Given the description of an element on the screen output the (x, y) to click on. 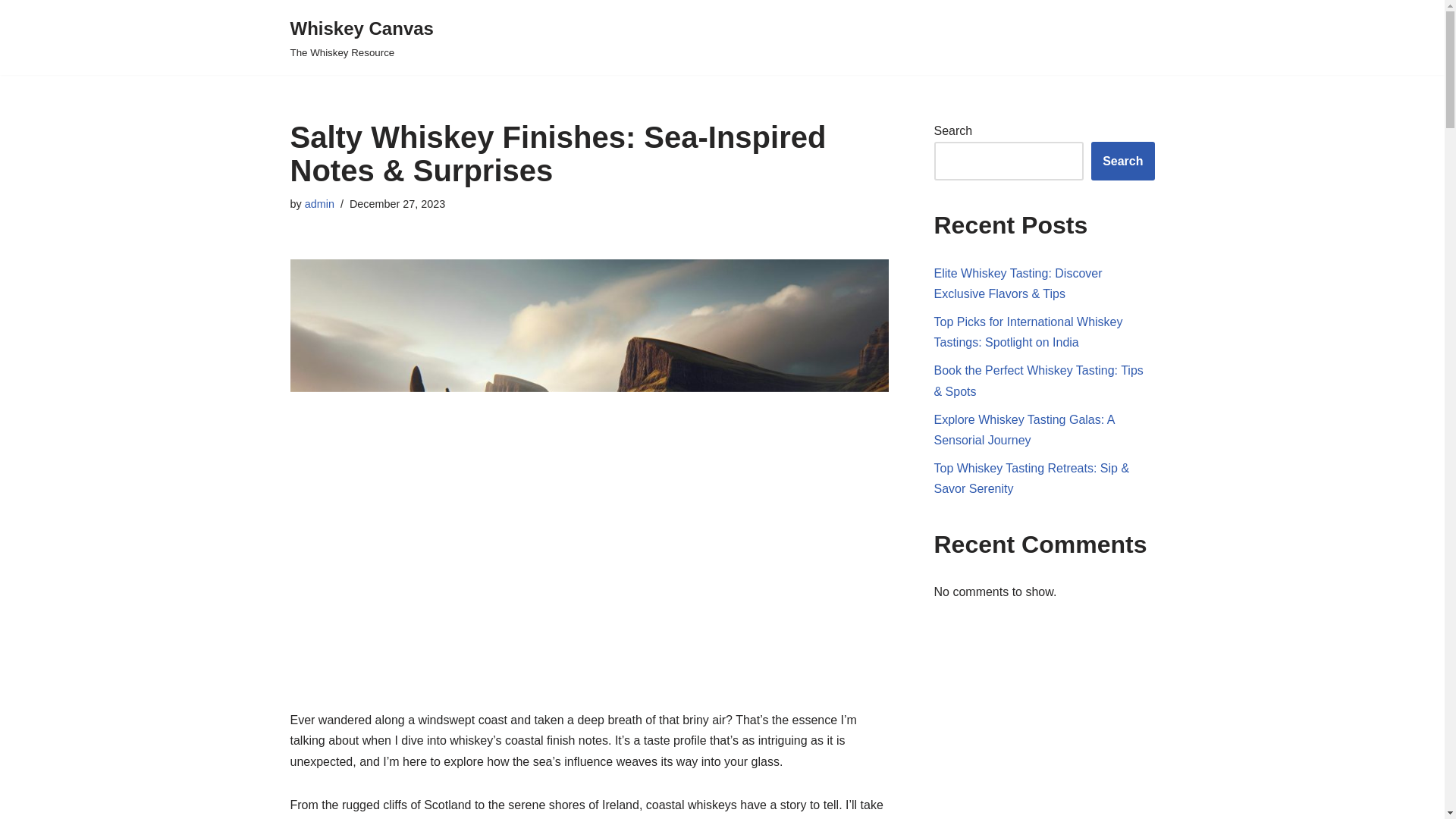
Posts by admin (319, 203)
Search (1122, 160)
Explore Whiskey Tasting Galas: A Sensorial Journey (360, 37)
Skip to content (1024, 429)
admin (11, 31)
